Given the description of an element on the screen output the (x, y) to click on. 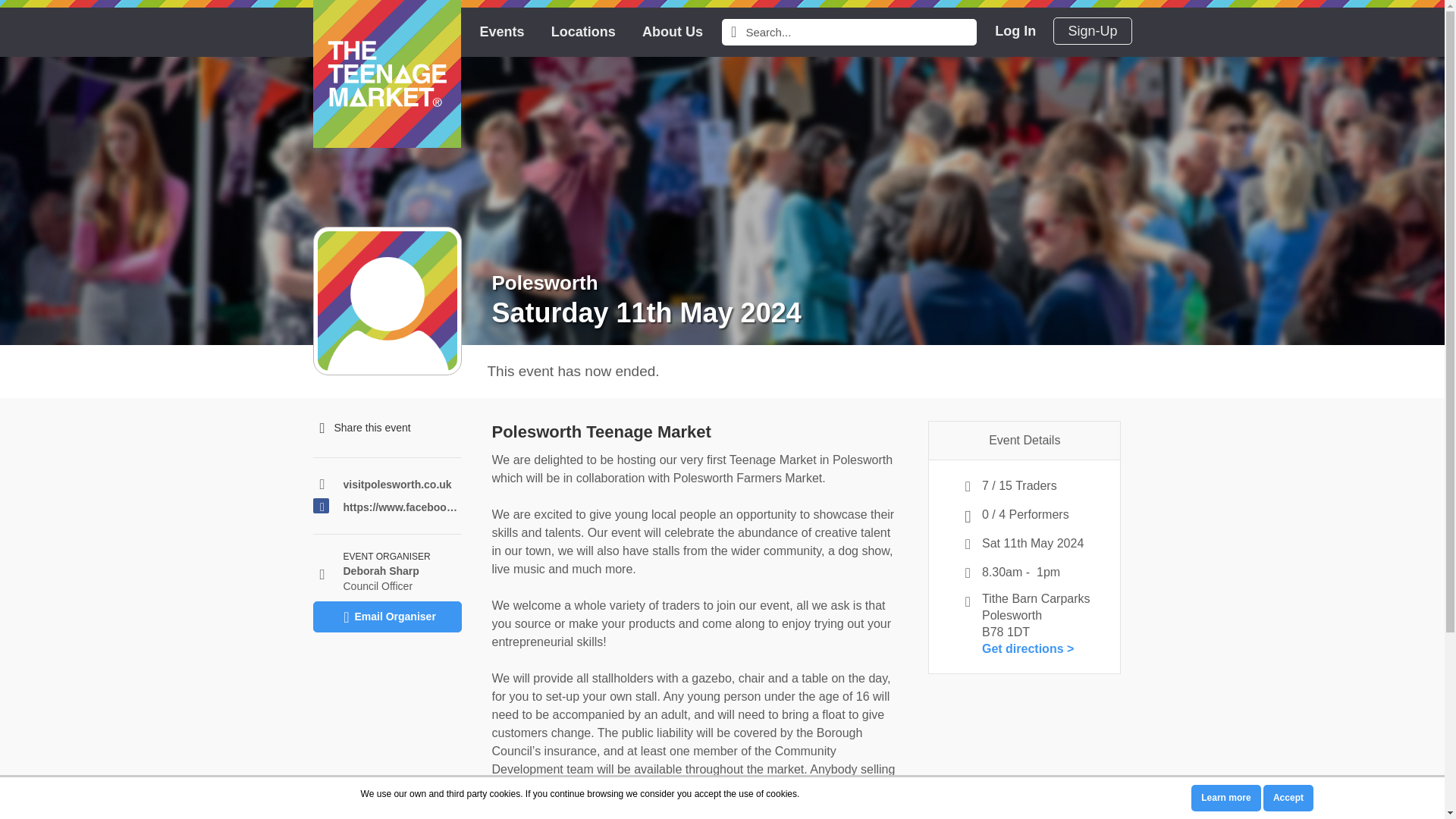
About Us (672, 31)
The Teenage Market (386, 74)
Events (501, 31)
Log In (1014, 30)
Accept (1288, 797)
Email Organiser (387, 616)
Events (501, 31)
Locations (583, 31)
Log In (1014, 30)
visitpolesworth.co.uk (401, 484)
Polesworth (544, 282)
Locations (583, 31)
Sign-Up (1091, 31)
Learn more (1225, 797)
About Us (672, 31)
